Given the description of an element on the screen output the (x, y) to click on. 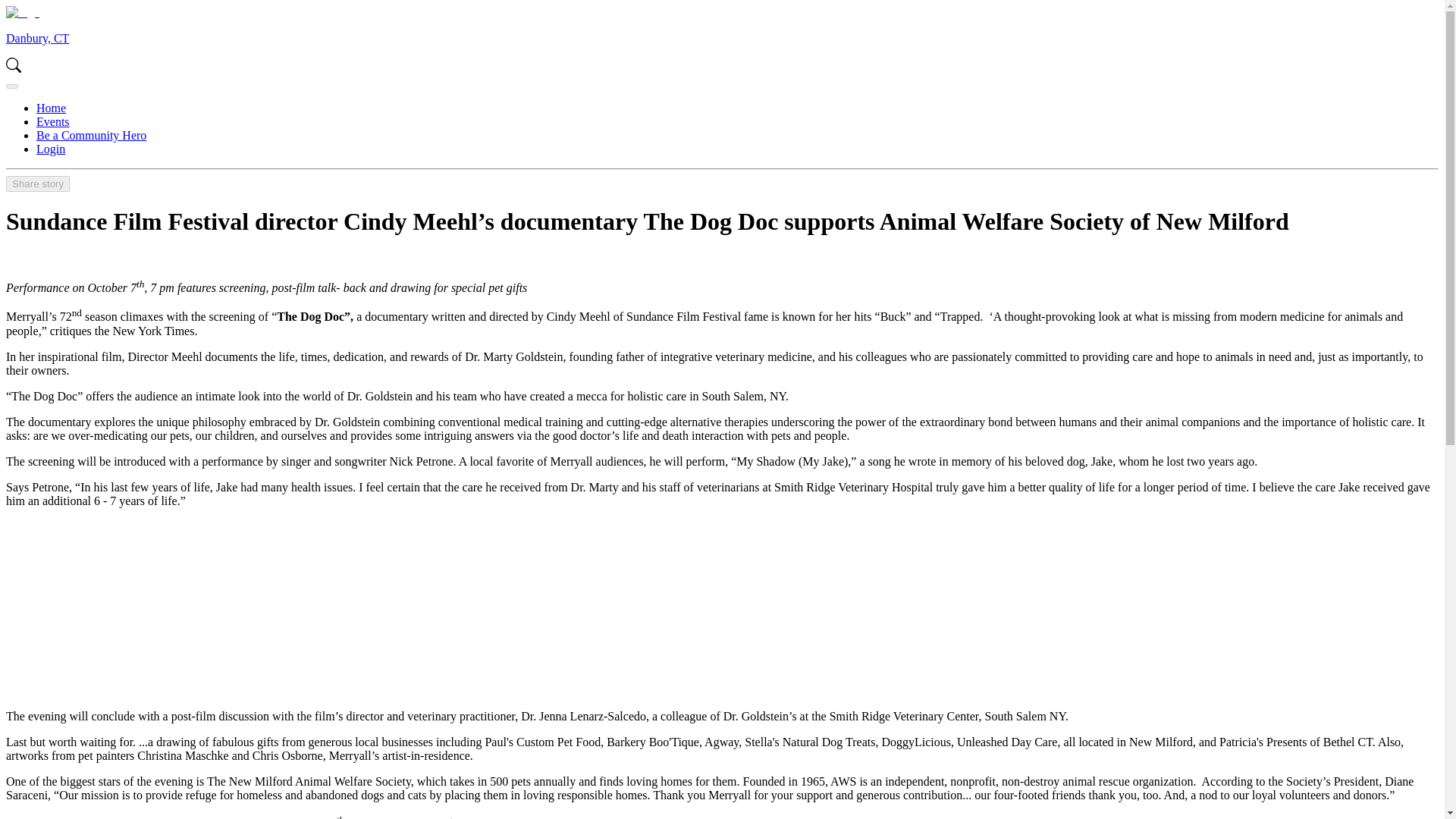
Login (50, 148)
Home (50, 107)
Share story (37, 182)
Danbury, CT (36, 38)
www.merryallcenter.org (727, 818)
Share story (37, 183)
Be a Community Hero (91, 134)
Events (52, 121)
